Given the description of an element on the screen output the (x, y) to click on. 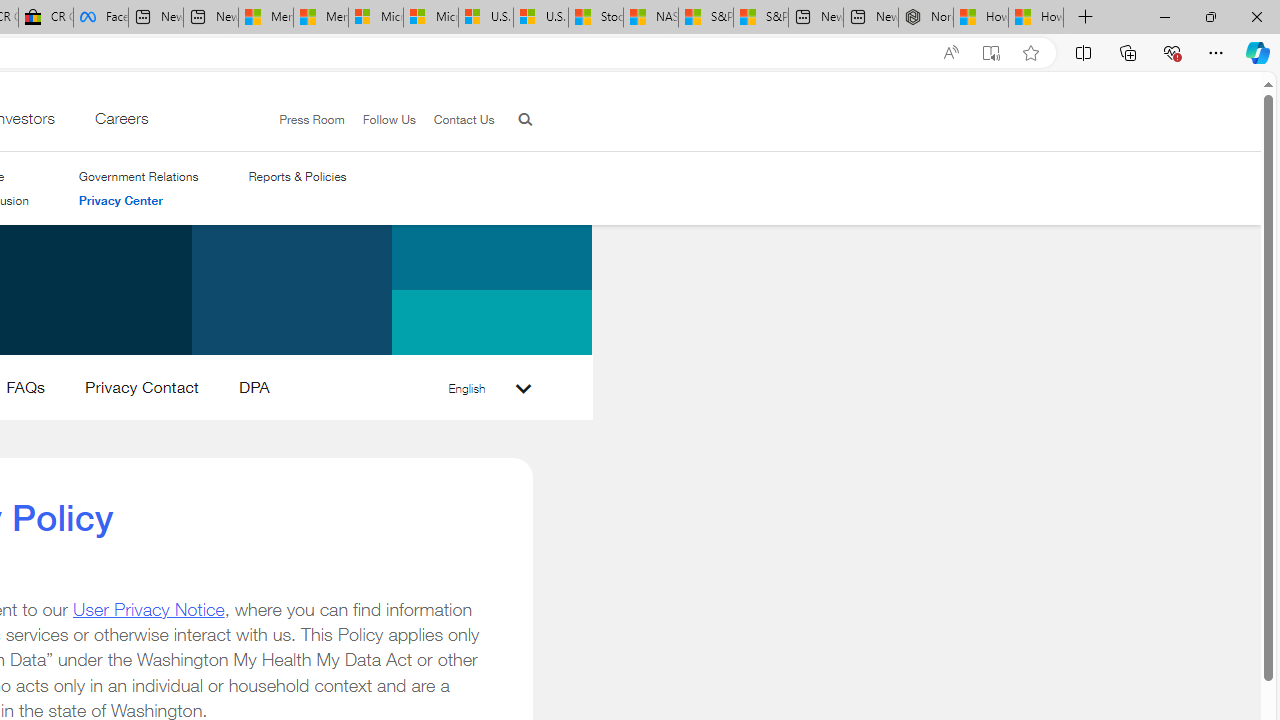
Follow Us (389, 119)
FAQs (26, 391)
Reports & Policies (297, 176)
Follow Us (380, 120)
Press Room (303, 120)
Government Relations (138, 176)
S&P 500, Nasdaq end lower, weighed by Nvidia dip | Watch (760, 17)
Privacy Contact (141, 391)
